Given the description of an element on the screen output the (x, y) to click on. 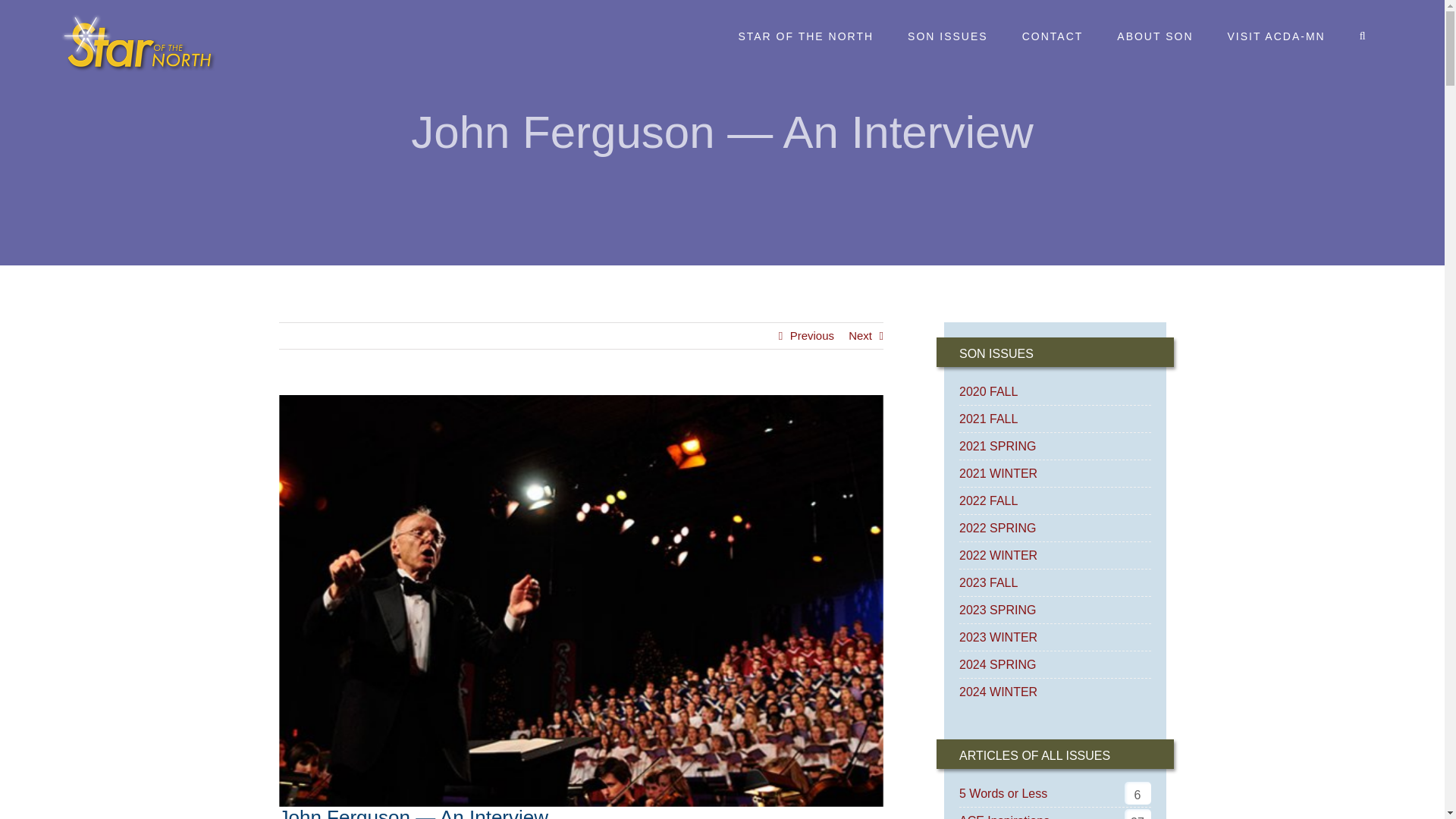
VISIT ACDA-MN (1275, 36)
SON ISSUES (948, 36)
Search (1363, 36)
ABOUT SON (1154, 36)
STAR OF THE NORTH (805, 36)
CONTACT (1052, 36)
